Given the description of an element on the screen output the (x, y) to click on. 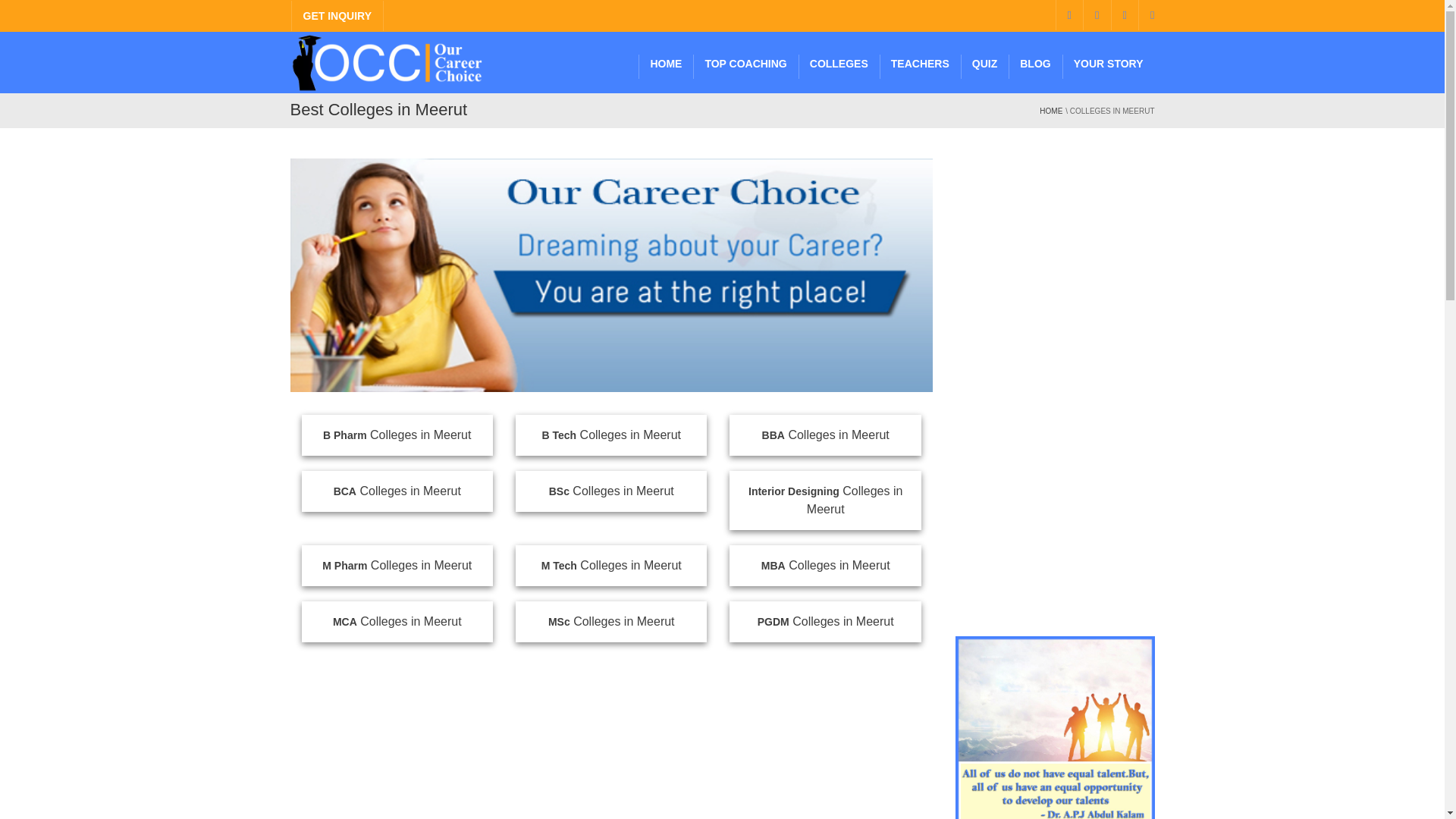
BBA Colleges in Meerut (824, 434)
MBA Colleges in Meerut (824, 565)
Interior Designing Colleges in Meerut (824, 499)
YOUR STORY (1108, 51)
HOME (1050, 111)
M Pharm Colleges in Meerut (397, 565)
BCA Colleges in Meerut (397, 490)
M Tech Colleges in Meerut (610, 565)
COLLEGES (838, 51)
MSc Colleges in Meerut (610, 621)
